Given the description of an element on the screen output the (x, y) to click on. 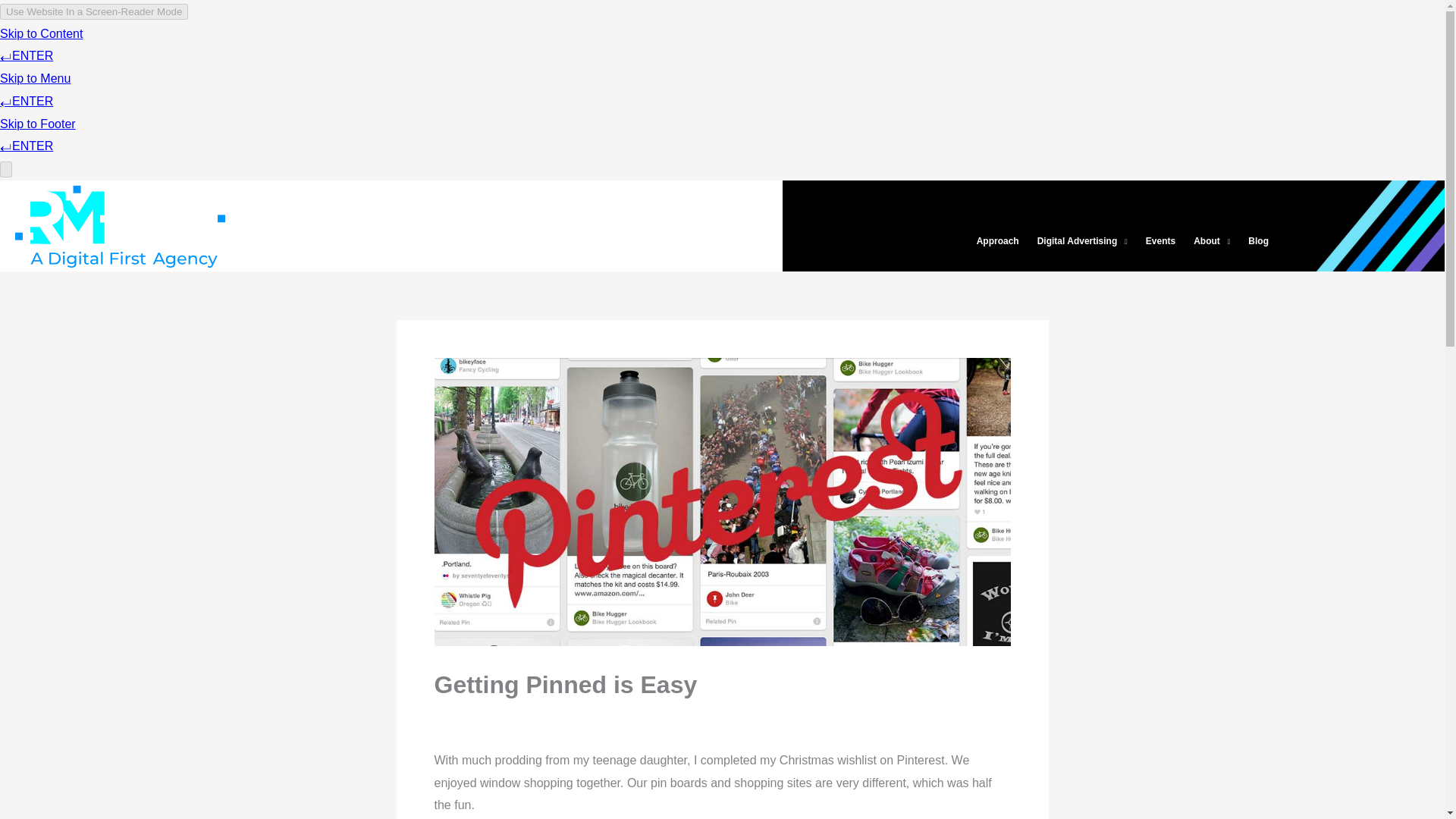
News (642, 716)
Royle Johnson (493, 716)
Events (1161, 240)
View all posts by Royle Johnson (493, 716)
Approach (997, 240)
Blog (1258, 240)
Digital Advertising (1082, 240)
About (1212, 240)
